Given the description of an element on the screen output the (x, y) to click on. 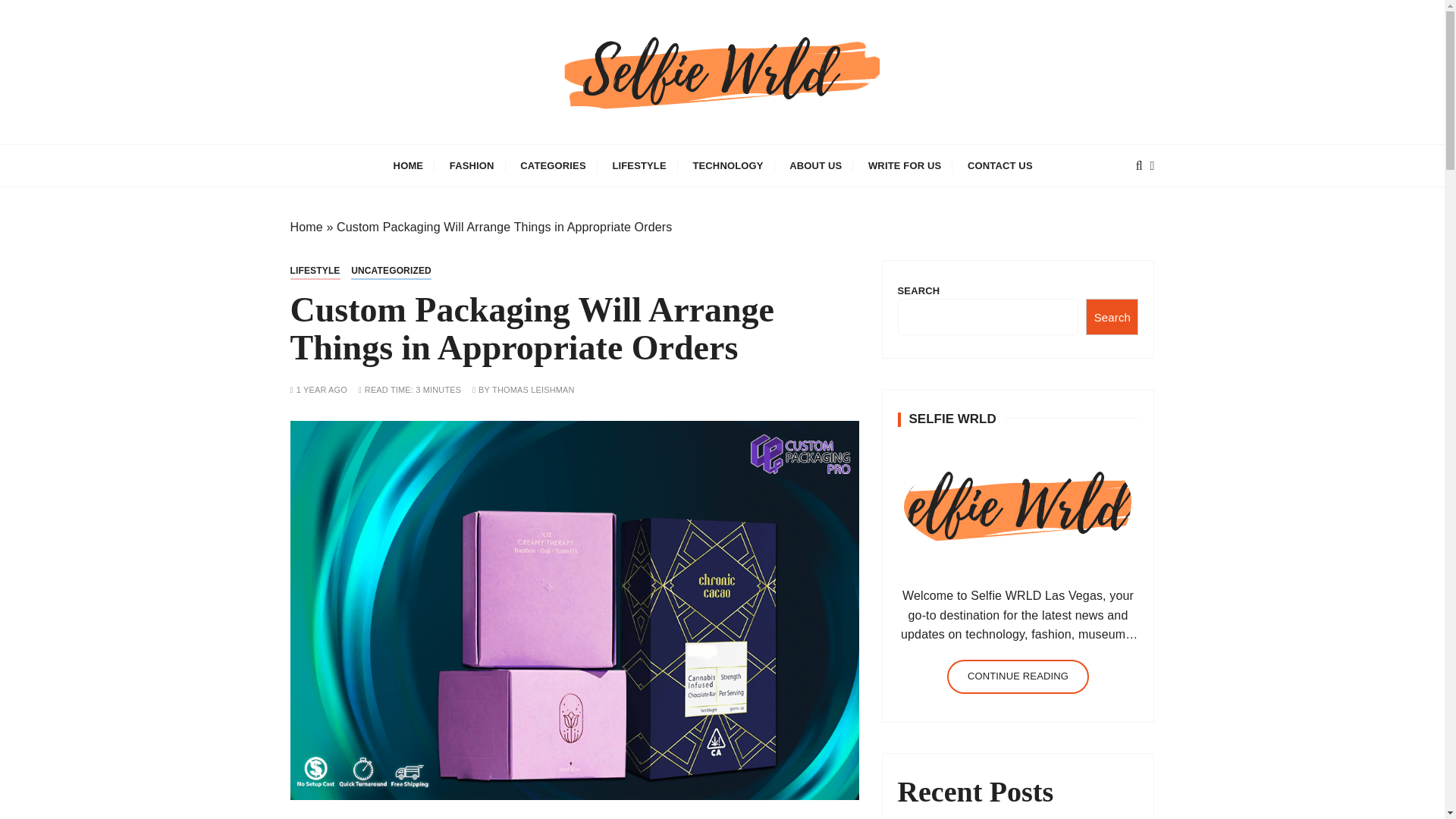
CATEGORIES (552, 165)
HOME (408, 165)
Selfiewrldlas Vegas (451, 154)
WRITE FOR US (904, 165)
TECHNOLOGY (727, 165)
LIFESTYLE (638, 165)
CONTACT US (999, 165)
FASHION (471, 165)
ABOUT US (815, 165)
